Given the description of an element on the screen output the (x, y) to click on. 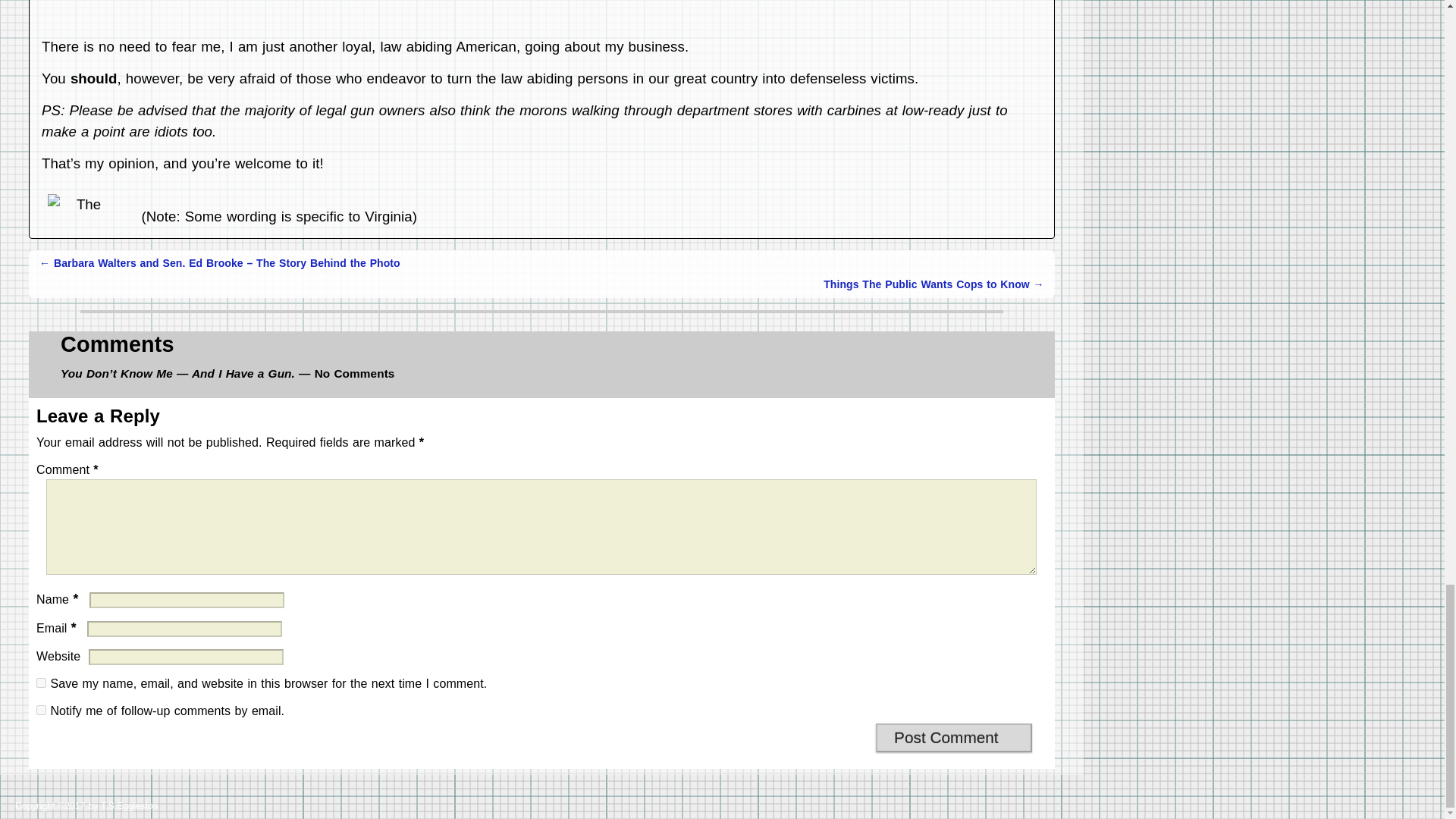
Post Comment (954, 737)
subscribe (41, 709)
yes (41, 682)
